Given the description of an element on the screen output the (x, y) to click on. 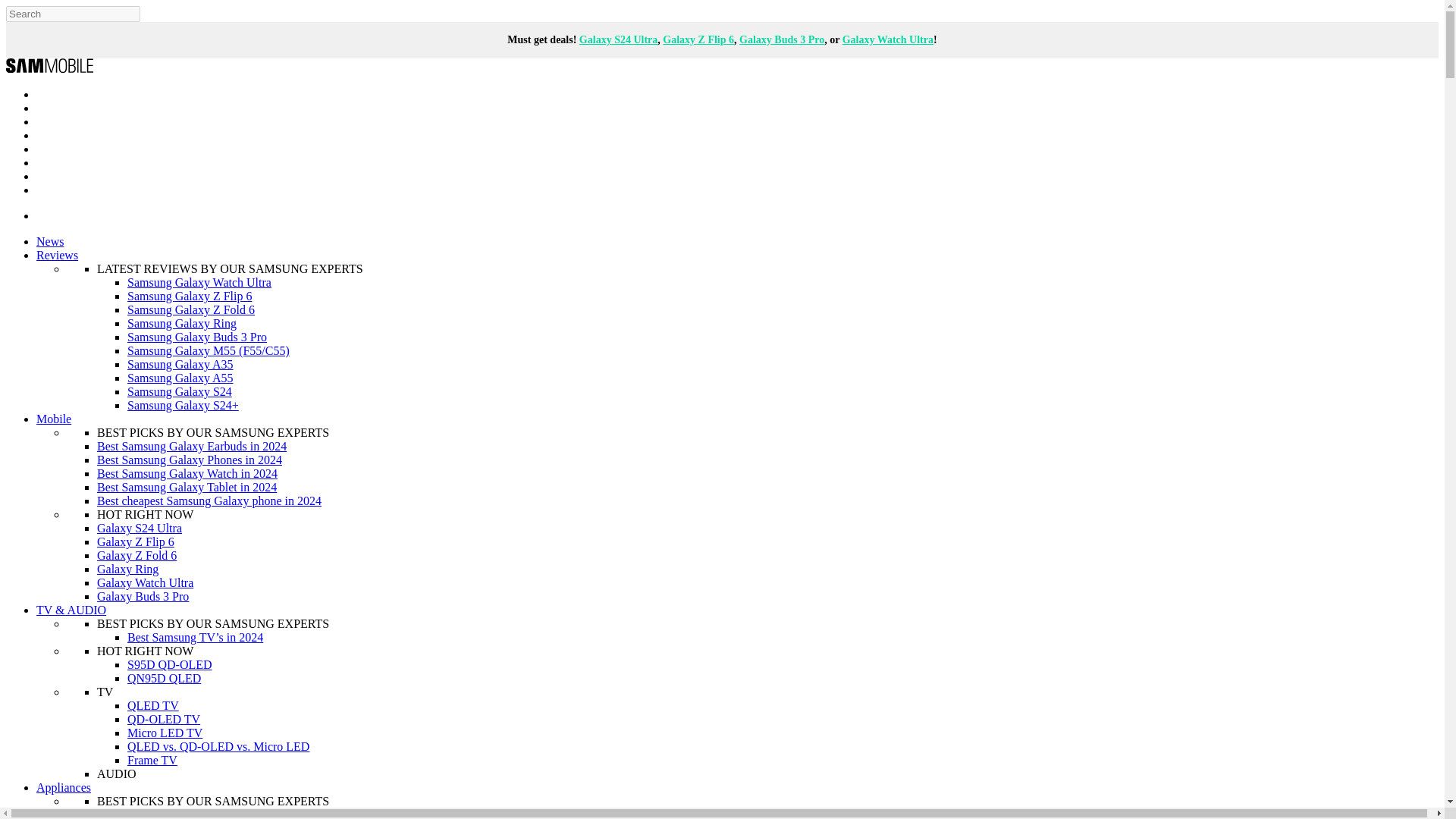
Best Samsung Galaxy Earbuds in 2024 (191, 445)
Mobile (53, 418)
Samsung Galaxy A35 (180, 364)
Galaxy Ring (127, 568)
Samsung Galaxy Ring (181, 323)
Galaxy Z Fold 6 (136, 554)
Samsung Galaxy Watch Ultra (199, 282)
Galaxy Watch Ultra (888, 39)
Galaxy Z Flip 6 (697, 39)
Samsung Galaxy Z Flip 6 (189, 295)
